Given the description of an element on the screen output the (x, y) to click on. 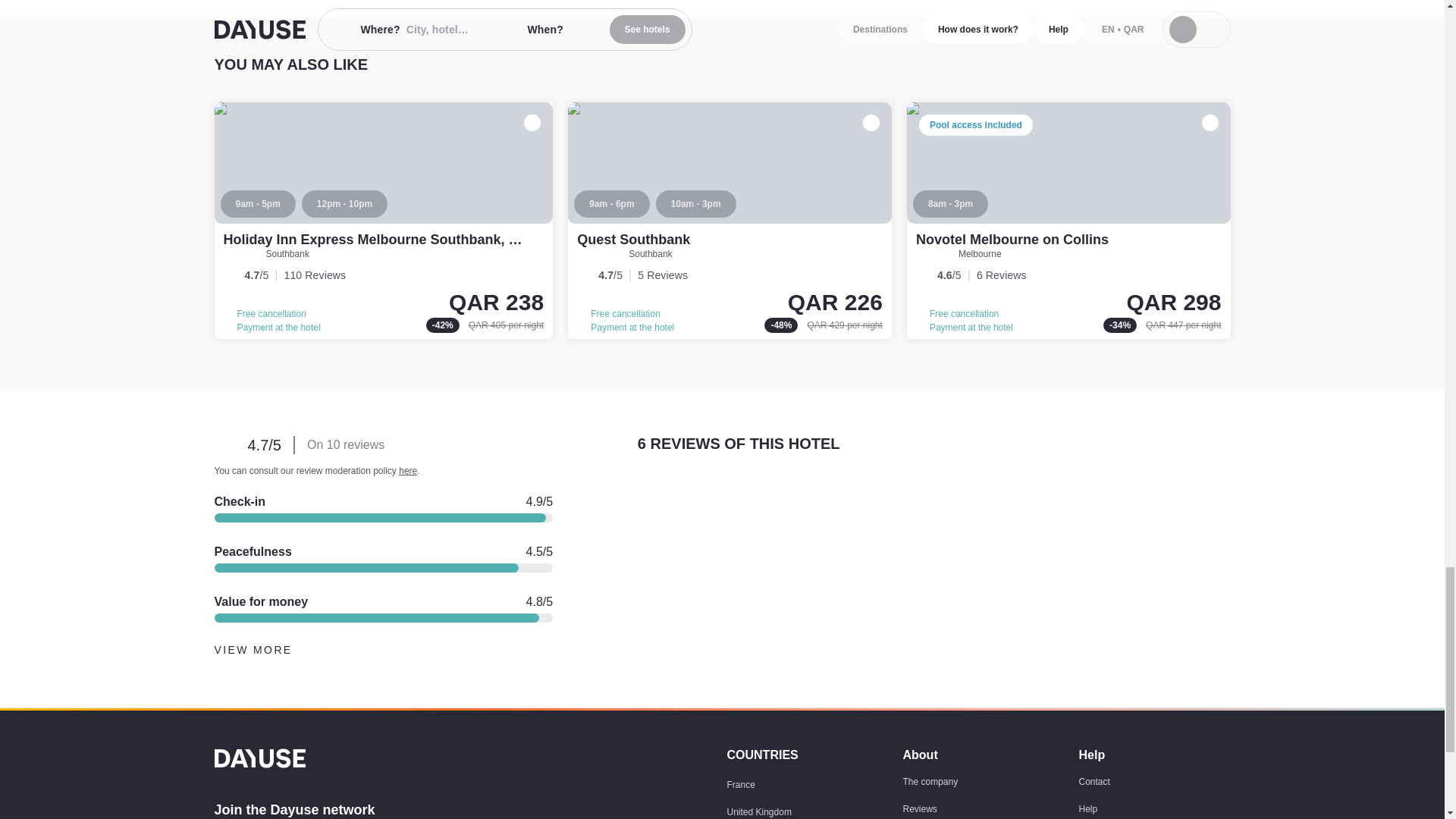
Quest Southbank (729, 220)
Novotel Melbourne on Collins (1011, 239)
Quest Southbank (633, 239)
Holiday Inn Express Melbourne Southbank, an IHG Hotel (405, 239)
Novotel Melbourne on Collins (1068, 220)
Holiday Inn Express Melbourne Southbank, an IHG Hotel (383, 220)
